Given the description of an element on the screen output the (x, y) to click on. 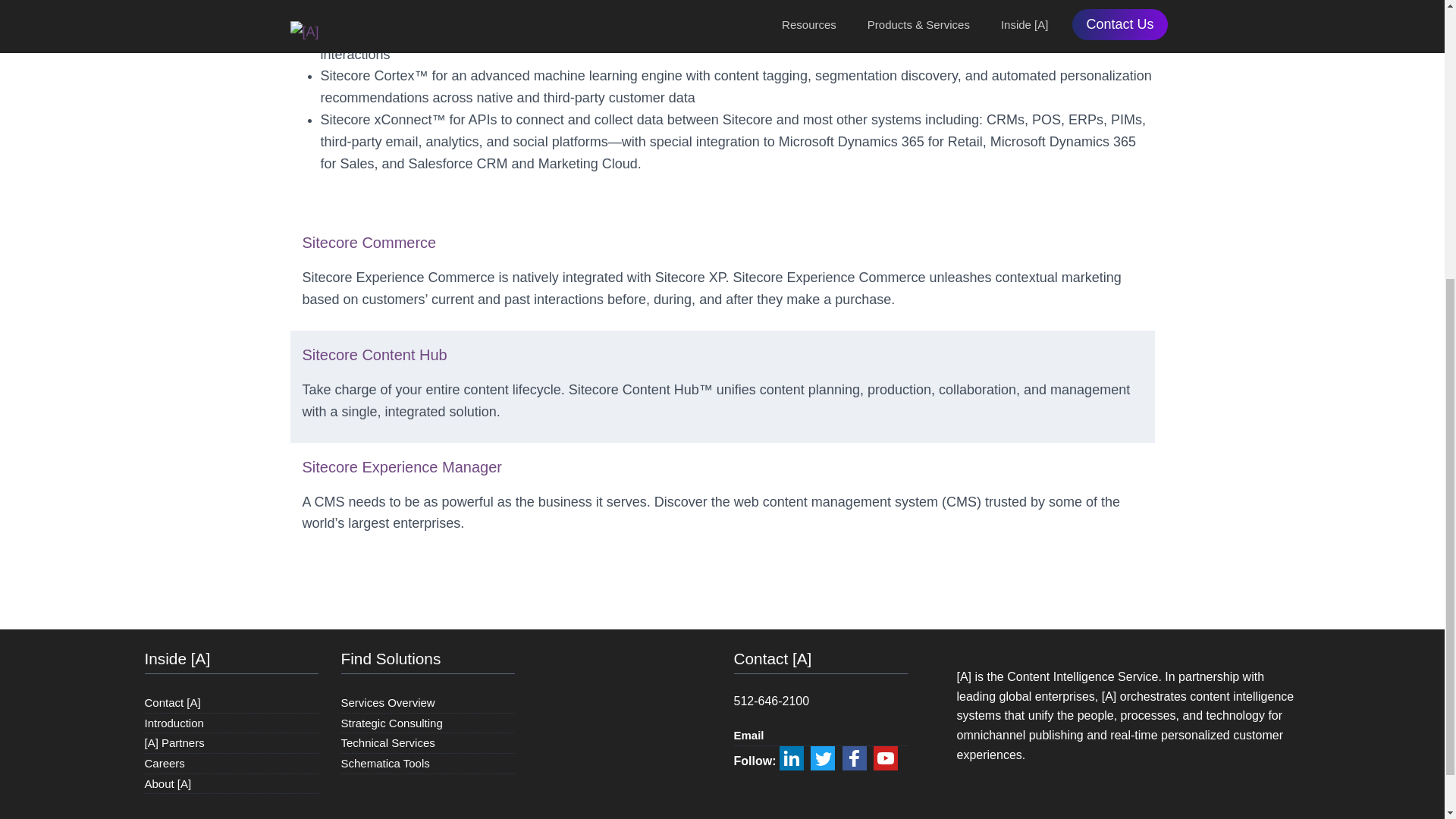
Careers (164, 762)
Introduction (173, 722)
YouTube (885, 758)
Twitter (822, 758)
LinkedIn (790, 758)
Facebook (854, 758)
